Given the description of an element on the screen output the (x, y) to click on. 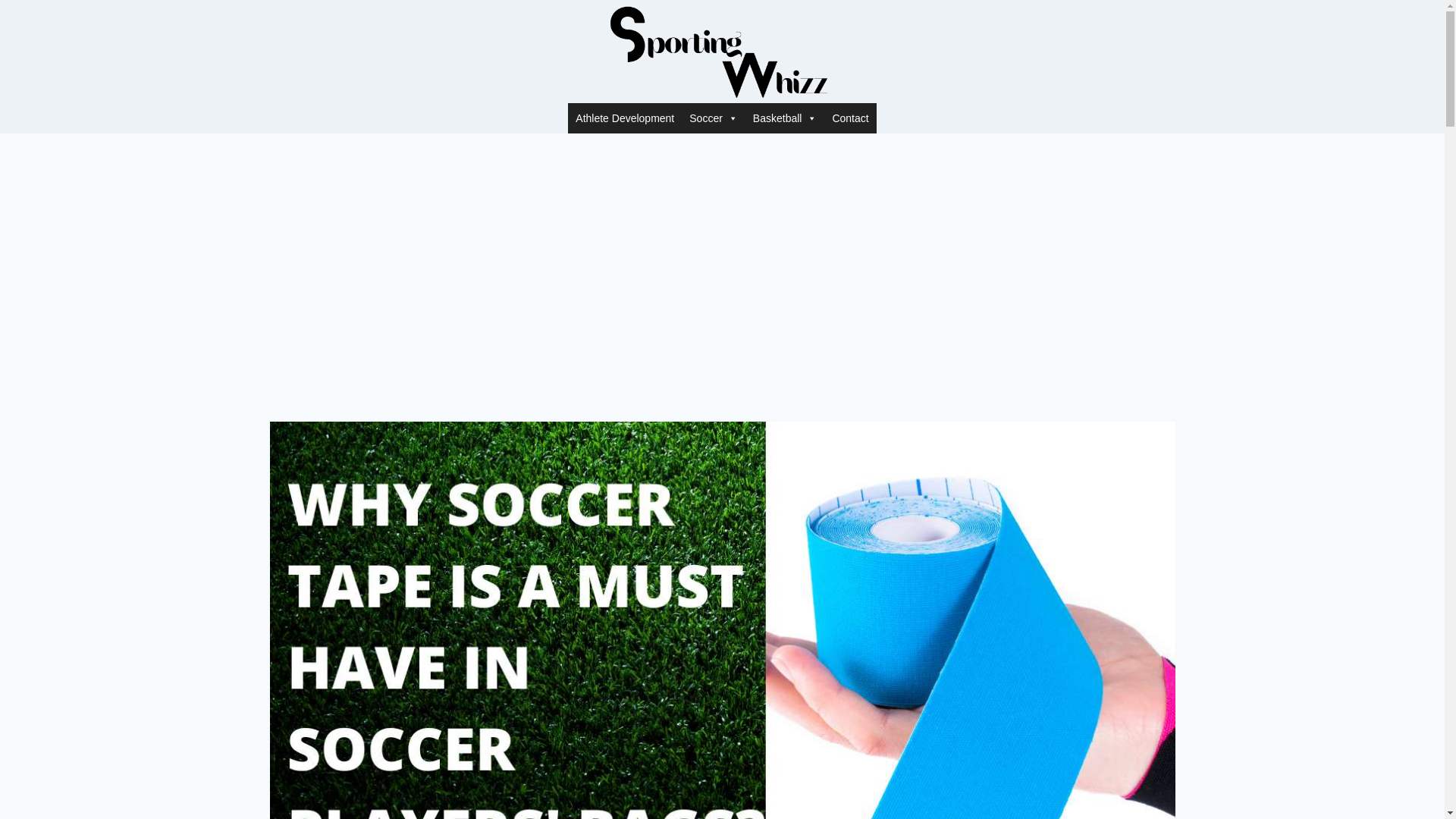
Basketball (785, 118)
Athlete Development (624, 118)
Contact (850, 118)
Soccer (713, 118)
